Given the description of an element on the screen output the (x, y) to click on. 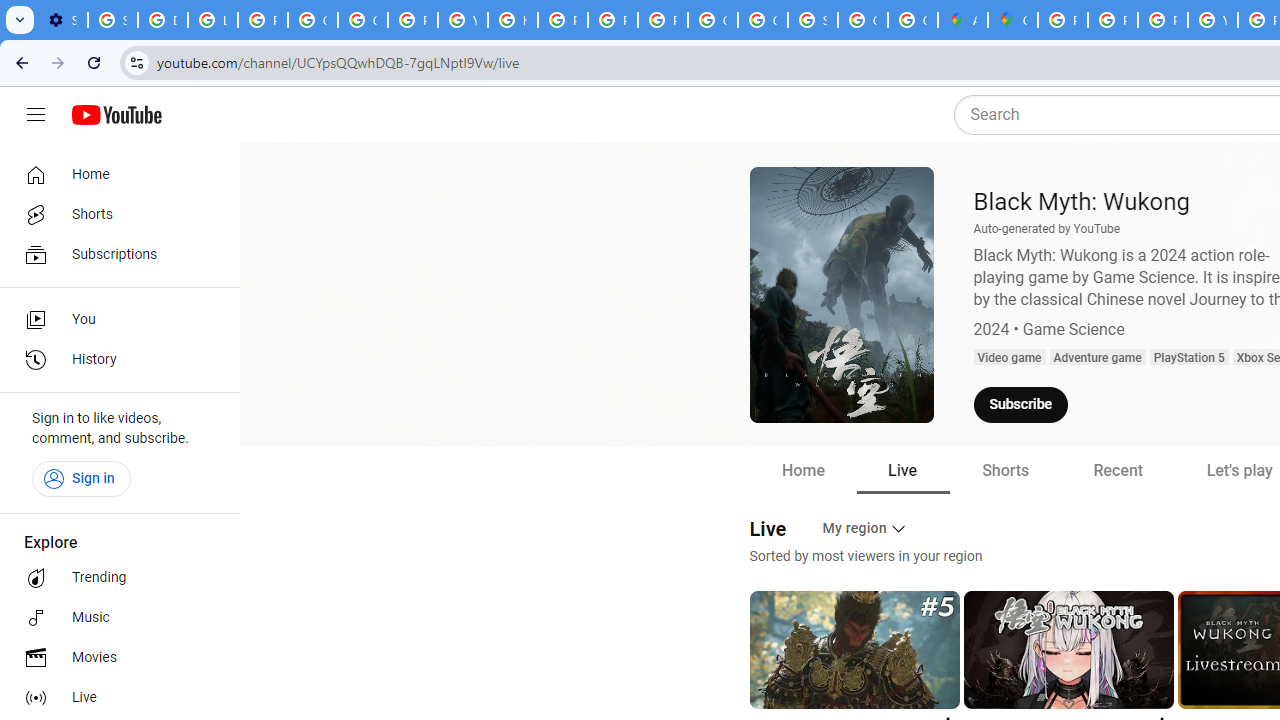
Privacy Help Center - Policies Help (1162, 20)
YouTube (1212, 20)
History (113, 359)
Guide (35, 115)
YouTube Home (116, 115)
Privacy Help Center - Policies Help (1112, 20)
Shorts (113, 214)
Live (113, 697)
YouTube (462, 20)
